Given the description of an element on the screen output the (x, y) to click on. 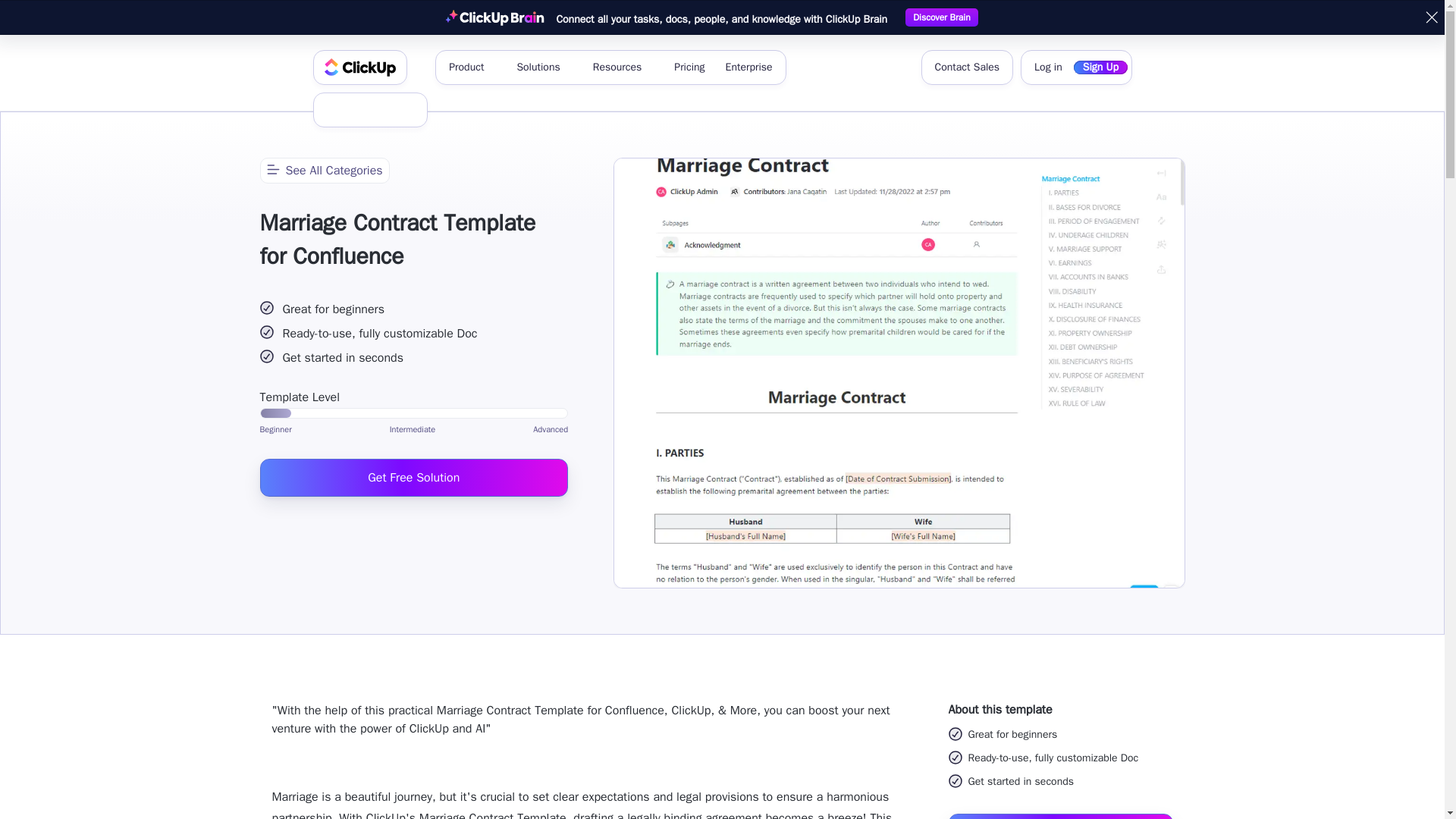
Solutions (543, 67)
Open mobile Menu (407, 109)
Discover Brain (940, 17)
Enterprise (748, 67)
Sign Up (1099, 67)
Contact Sales (966, 67)
Close banner (1431, 17)
Resources (622, 67)
See All Categories (323, 170)
Sign Up (352, 109)
Pricing (689, 67)
Log in (1048, 67)
Product (472, 67)
